Given the description of an element on the screen output the (x, y) to click on. 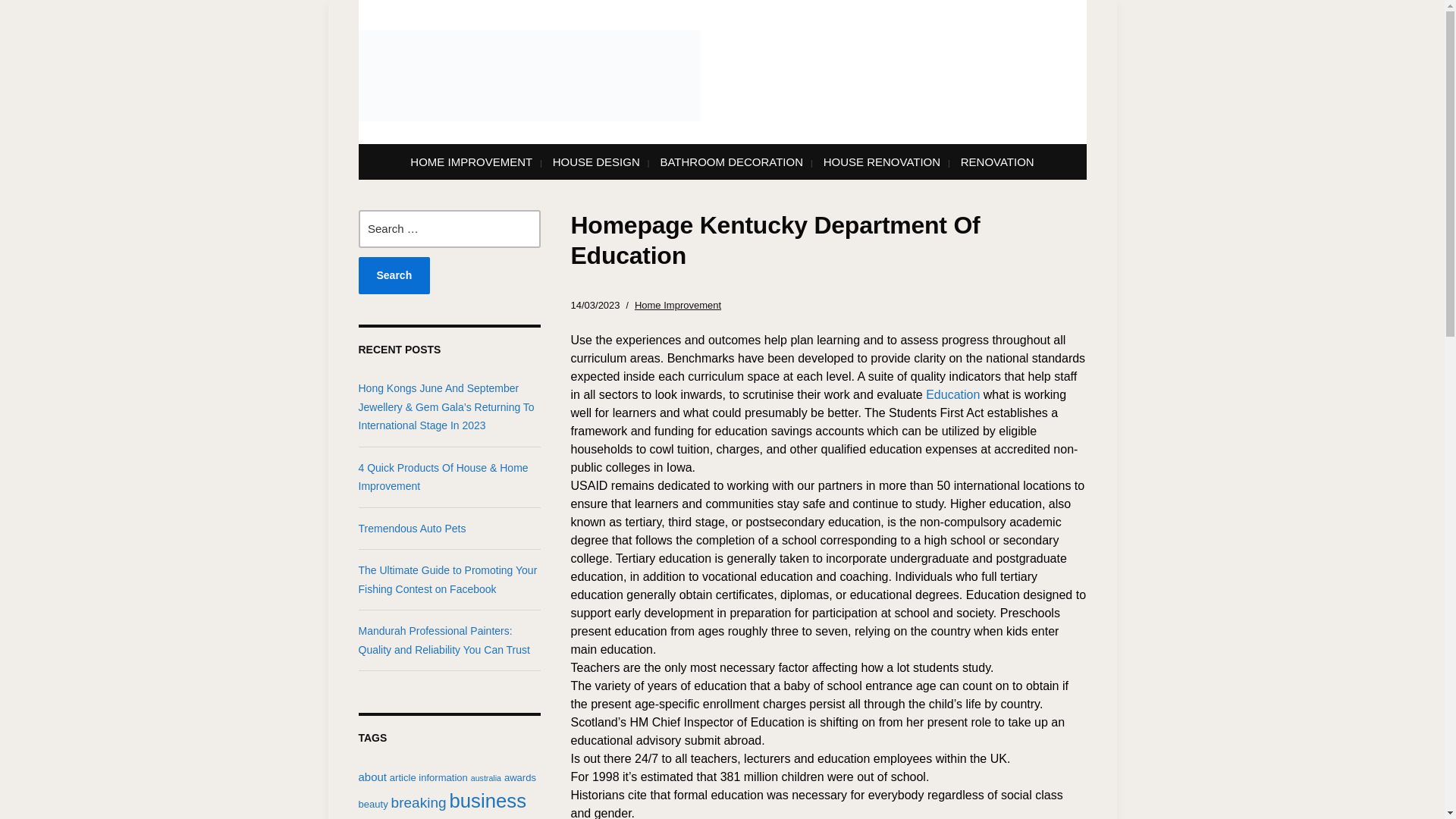
breaking (418, 802)
HOUSE RENOVATION (882, 161)
beauty (372, 803)
BATHROOM DECORATION (731, 161)
RENOVATION (997, 161)
HOUSE DESIGN (596, 161)
article information (428, 777)
Search (393, 275)
awards (519, 777)
